Given the description of an element on the screen output the (x, y) to click on. 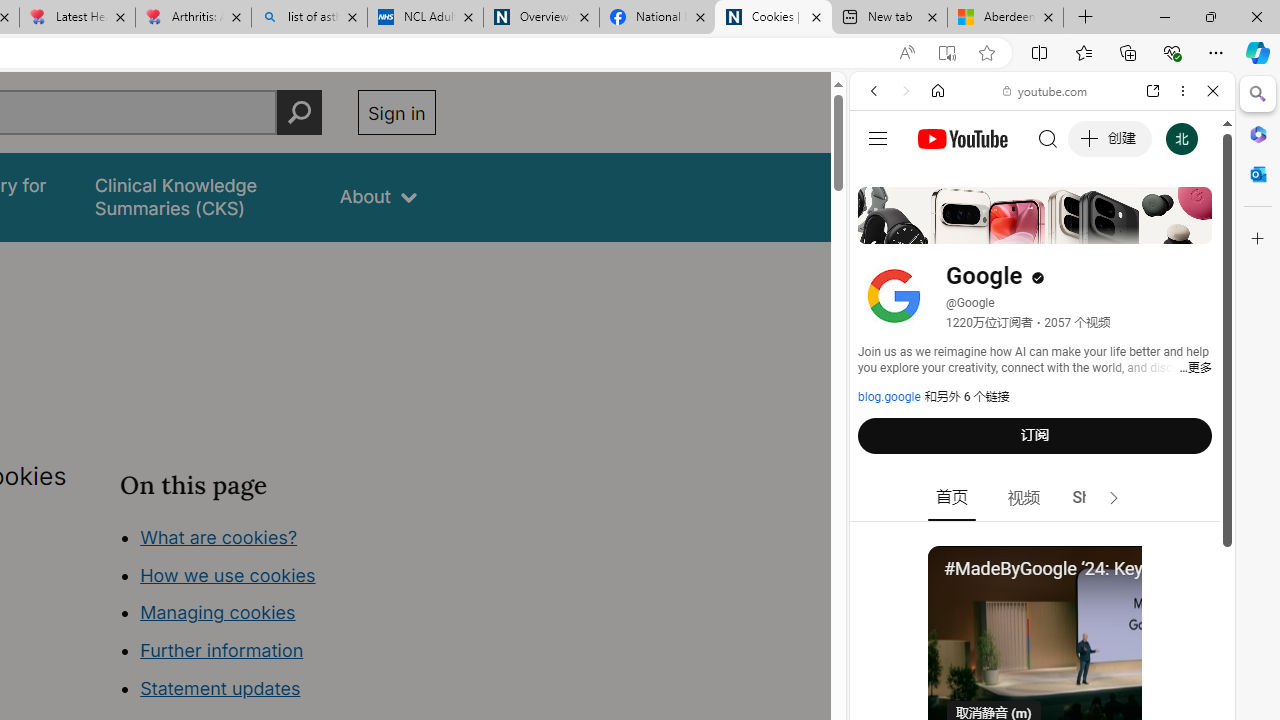
Microsoft 365 (1258, 133)
Class: b_serphb (1190, 229)
Show More Music (1164, 546)
Global web icon (888, 288)
Shorts (1096, 497)
WEB   (882, 228)
Trailer #2 [HD] (1042, 594)
Search the web (1051, 137)
Web scope (882, 180)
#you (1042, 445)
